Given the description of an element on the screen output the (x, y) to click on. 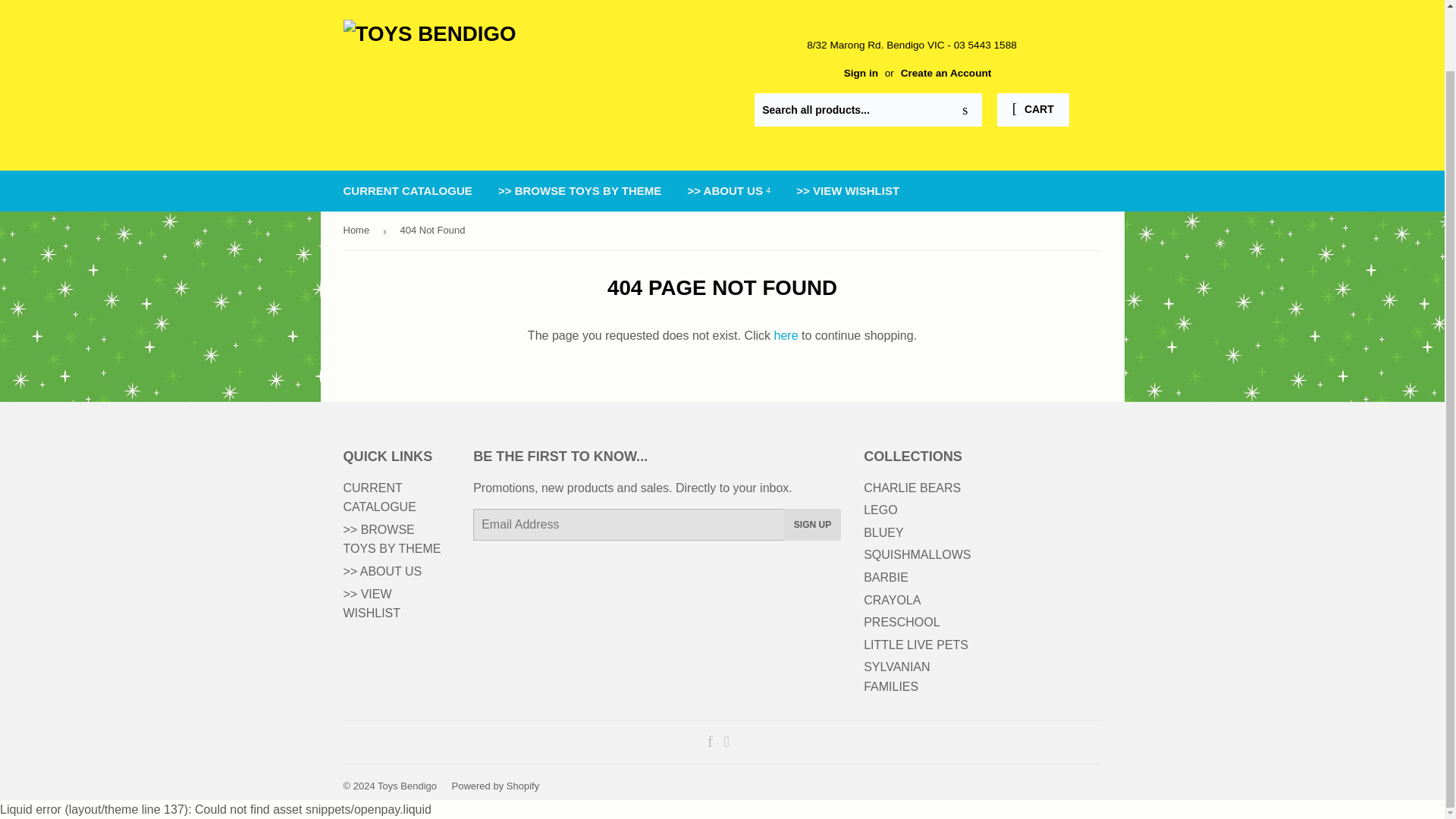
Sign in (860, 72)
Search (964, 110)
Create an Account (946, 72)
here (785, 335)
CURRENT CATALOGUE (378, 497)
CHARLIE BEARS (911, 487)
CART (1032, 109)
CURRENT CATALOGUE (407, 190)
SIGN UP (812, 524)
